Given the description of an element on the screen output the (x, y) to click on. 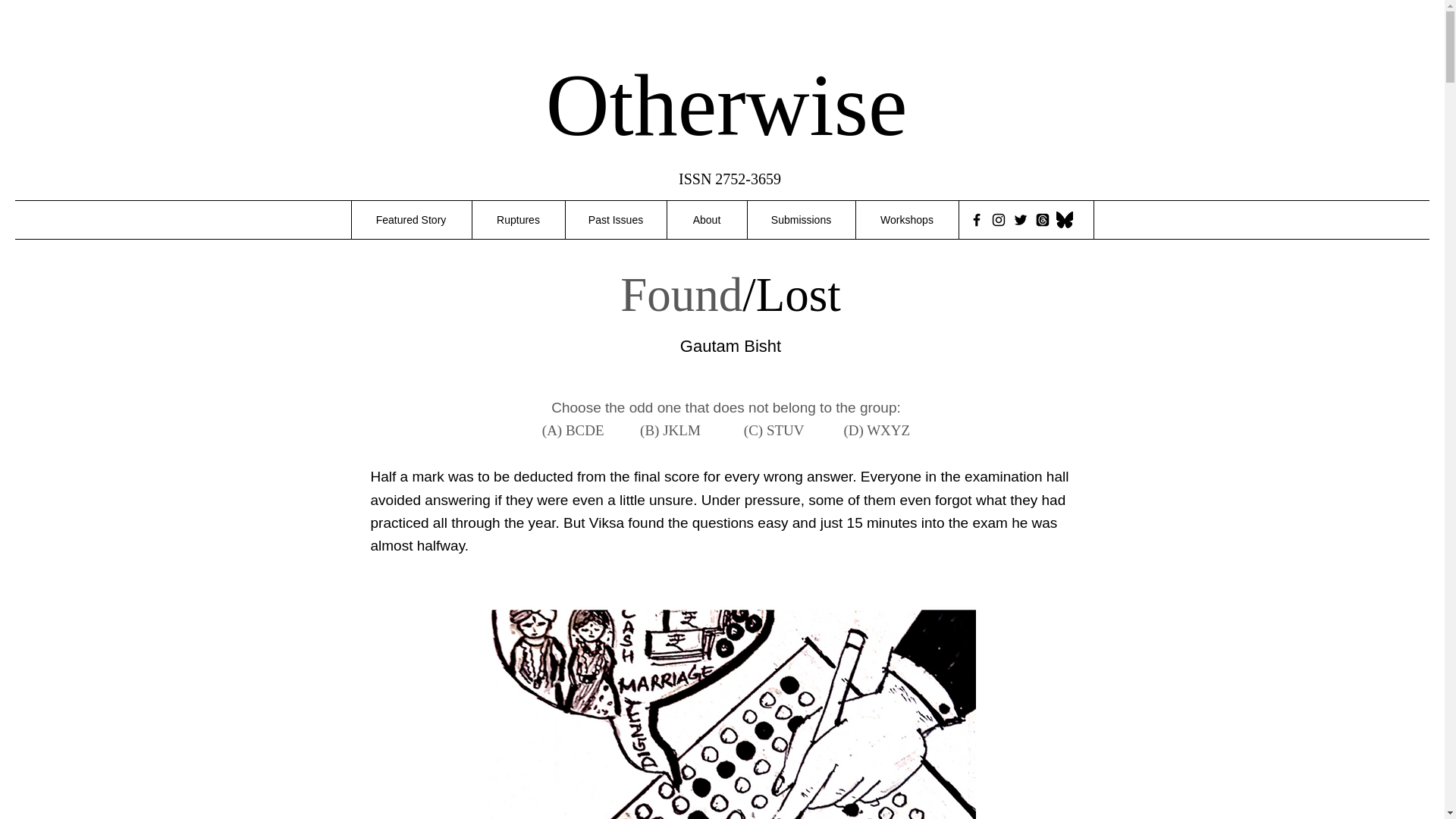
Otherwise (726, 104)
Featured Story (410, 219)
Past Issues (614, 219)
Ruptures (517, 219)
Workshops (907, 219)
About (705, 219)
Submissions (799, 219)
